Given the description of an element on the screen output the (x, y) to click on. 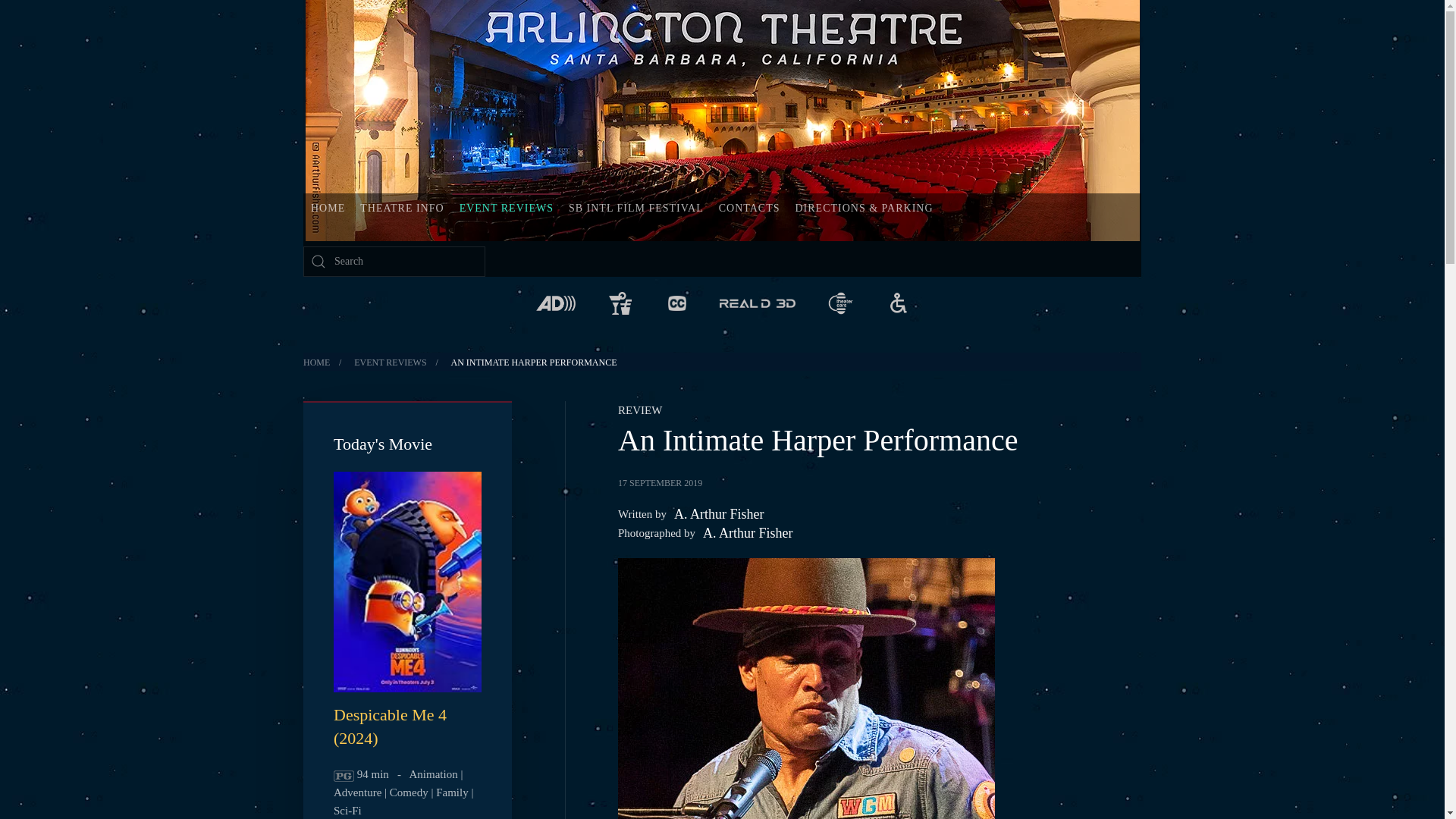
SB INTL FILM FESTIVAL (635, 208)
CONTACTS (749, 208)
EVENT REVIEWS (505, 208)
PG (343, 776)
Showtimes for Despicable Me 4 (389, 726)
HOME (316, 362)
HOME (327, 208)
EVENT REVIEWS (389, 362)
THEATRE INFO (401, 208)
